Given the description of an element on the screen output the (x, y) to click on. 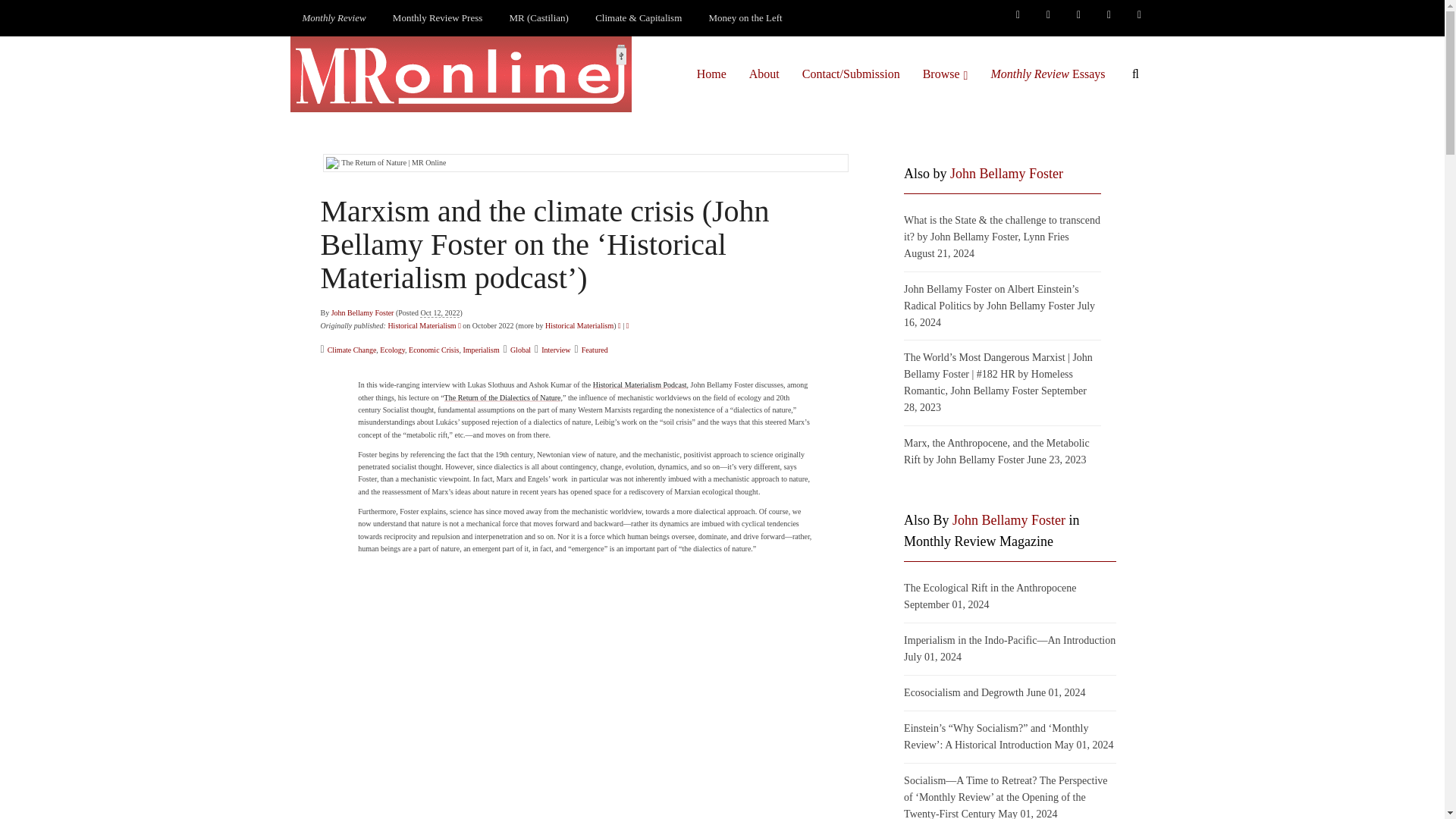
Money on the Left (745, 18)
Browse (945, 74)
Monthly Review (333, 18)
Monthly Review Magazine (333, 18)
Monthly Review Press (437, 18)
